Given the description of an element on the screen output the (x, y) to click on. 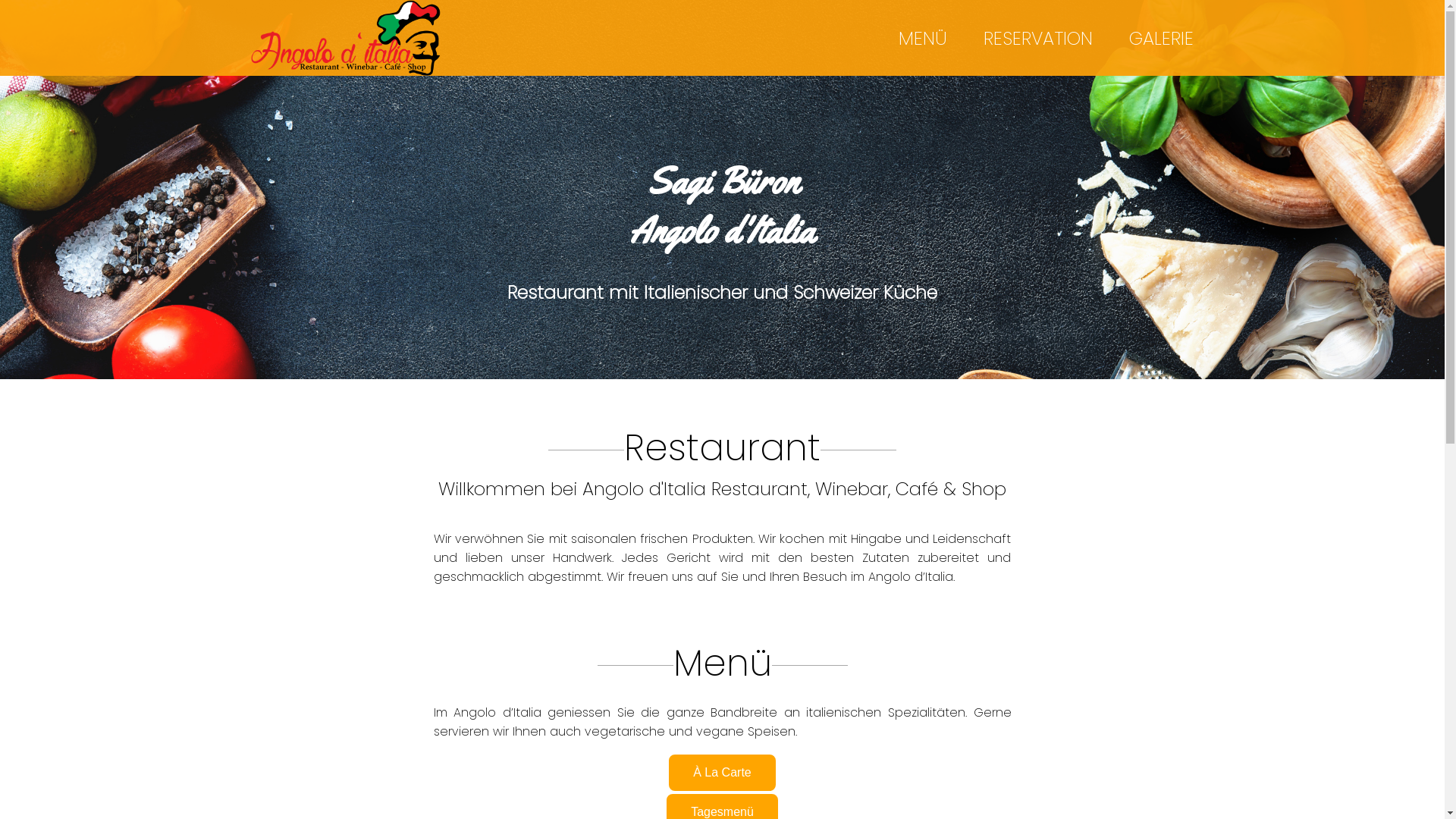
GALERIE Element type: text (1161, 37)
RESERVATION Element type: text (1037, 37)
